Given the description of an element on the screen output the (x, y) to click on. 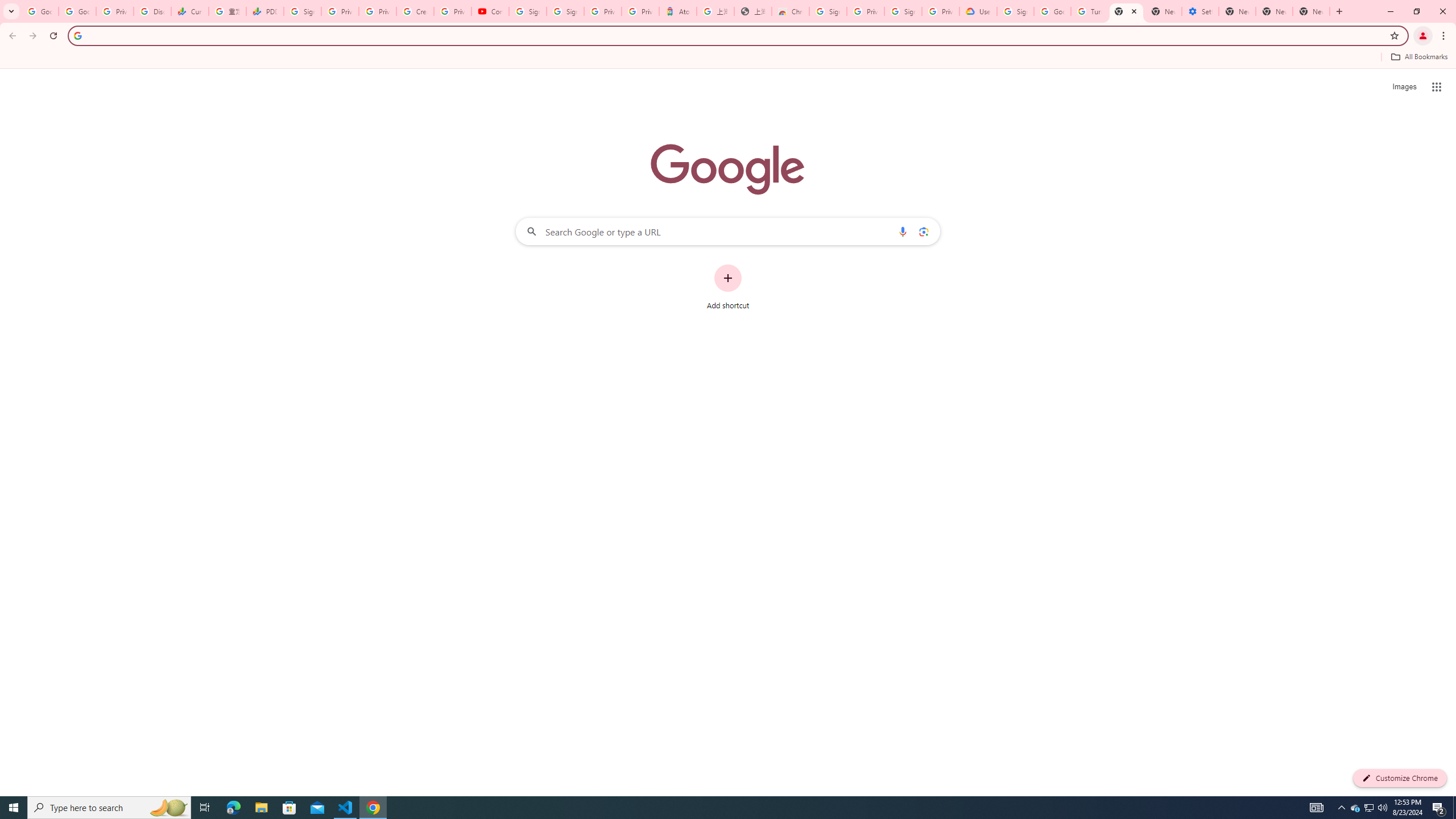
Sign in - Google Accounts (827, 11)
Sign in - Google Accounts (302, 11)
Search by voice (902, 230)
Search Google or type a URL (727, 230)
PDD Holdings Inc - ADR (PDD) Price & News - Google Finance (264, 11)
Sign in - Google Accounts (903, 11)
Search by image (922, 230)
Google Workspace Admin Community (40, 11)
Atour Hotel - Google hotels (677, 11)
Add shortcut (727, 287)
